Given the description of an element on the screen output the (x, y) to click on. 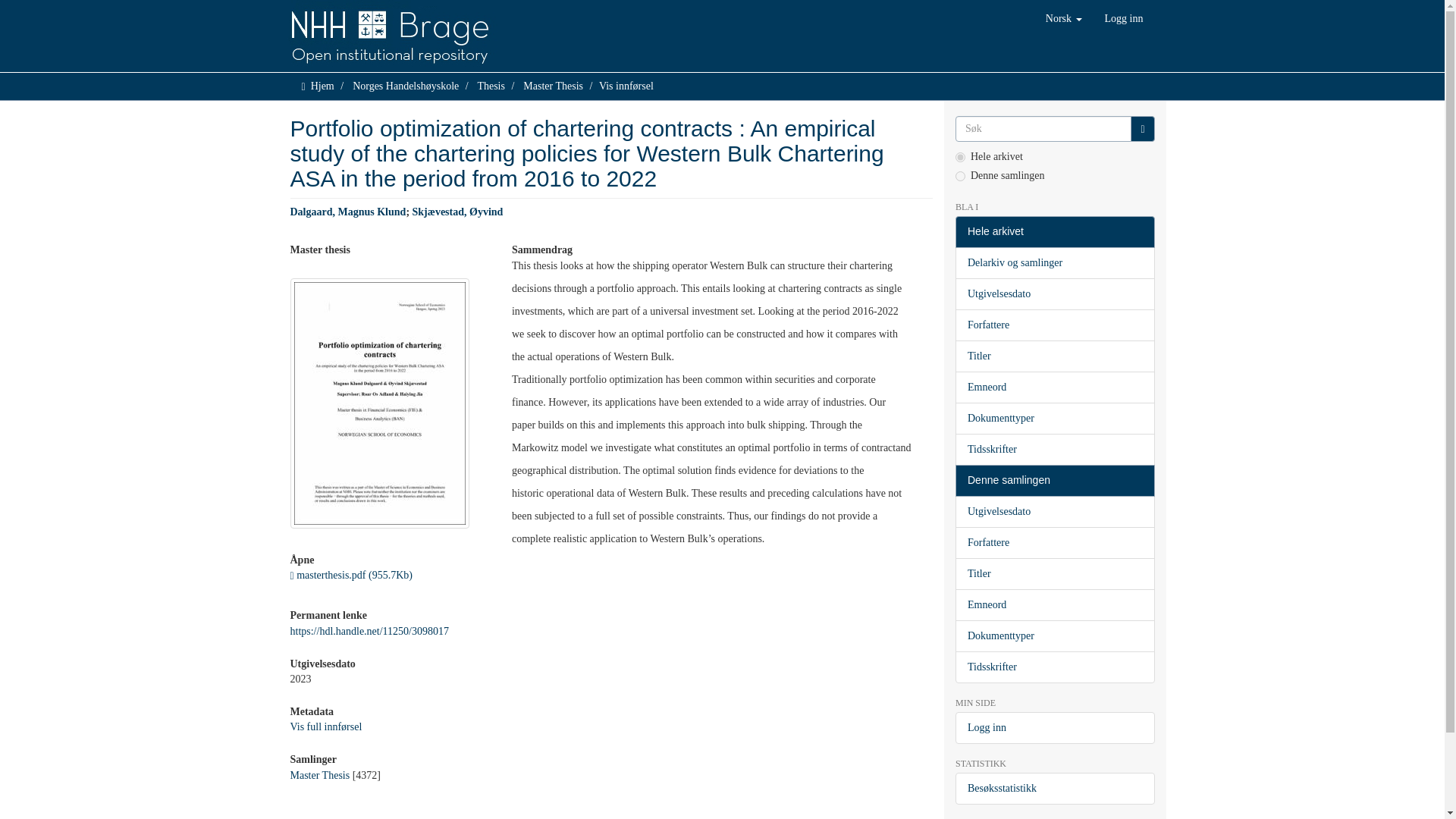
Master Thesis (319, 775)
Forfattere (1054, 325)
Utgivelsesdato (1054, 294)
Hjem (322, 85)
Logg inn (1123, 18)
Delarkiv og samlinger (1054, 263)
Hele arkivet (1054, 232)
Norsk  (1063, 18)
Master Thesis (552, 85)
Titler (1054, 356)
